Given the description of an element on the screen output the (x, y) to click on. 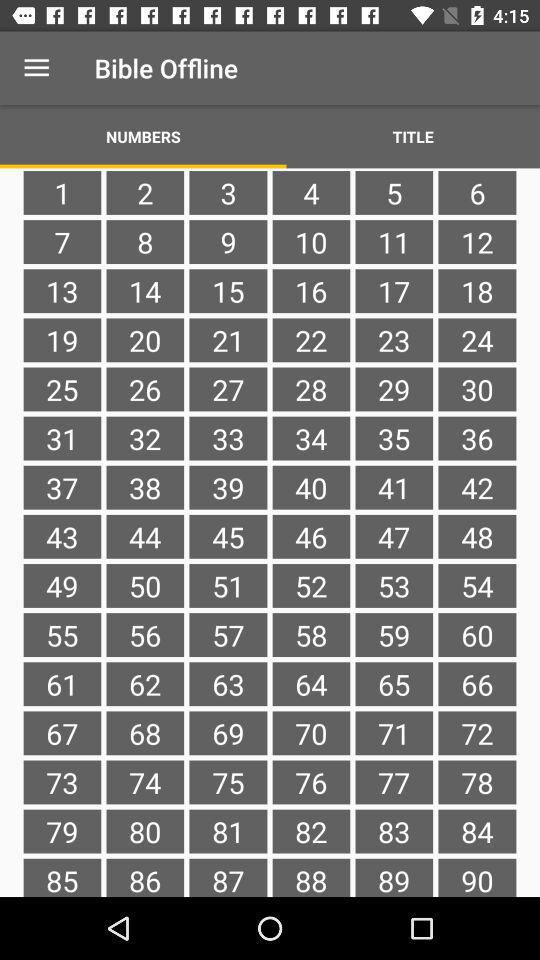
turn off the item next to 54 (394, 634)
